Given the description of an element on the screen output the (x, y) to click on. 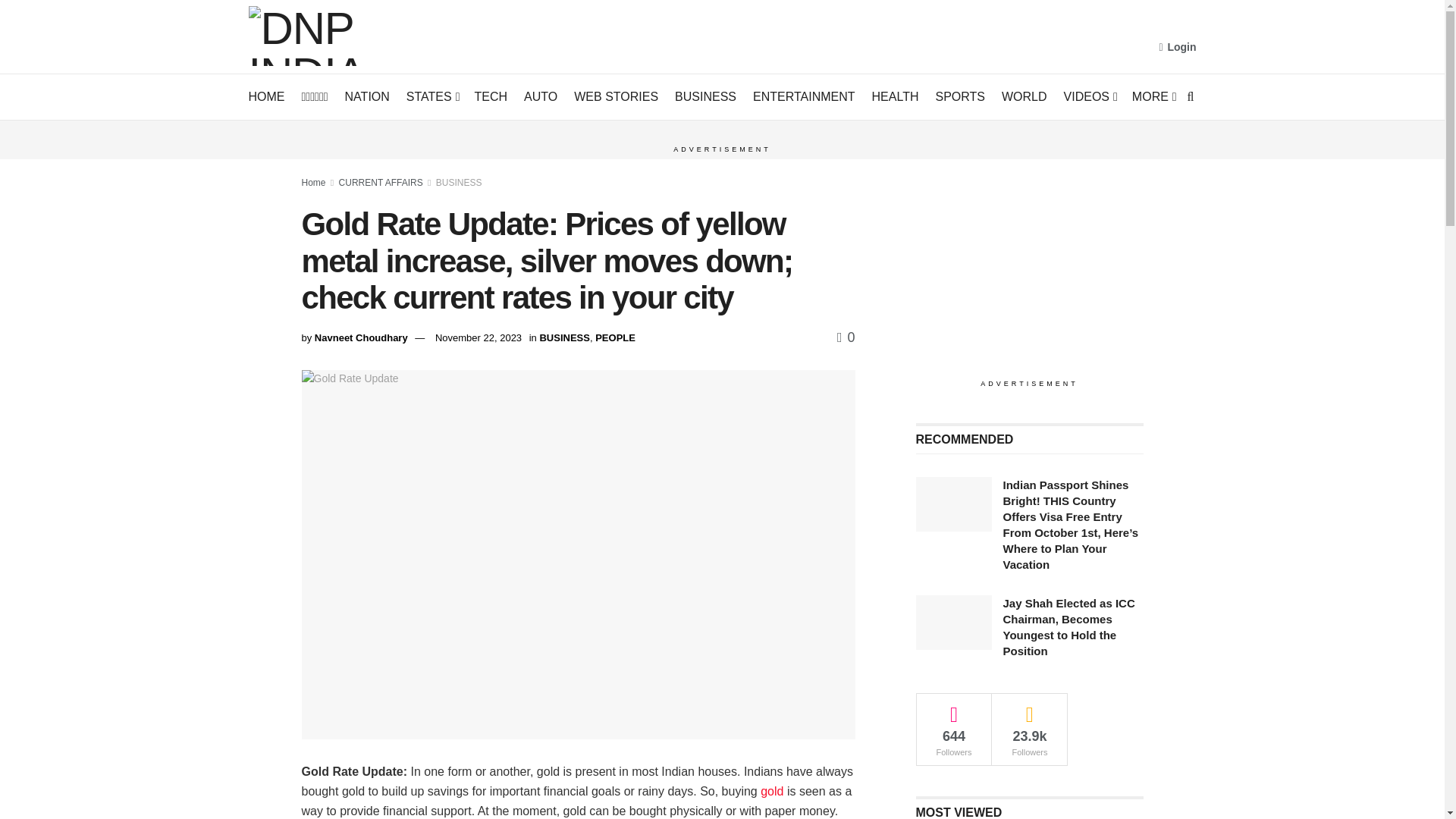
STATES (432, 96)
SPORTS (959, 96)
Login (1176, 46)
WORLD (1023, 96)
TECH (491, 96)
BUSINESS (705, 96)
ENTERTAINMENT (804, 96)
WEB STORIES (615, 96)
HOME (266, 96)
AUTO (540, 96)
